Given the description of an element on the screen output the (x, y) to click on. 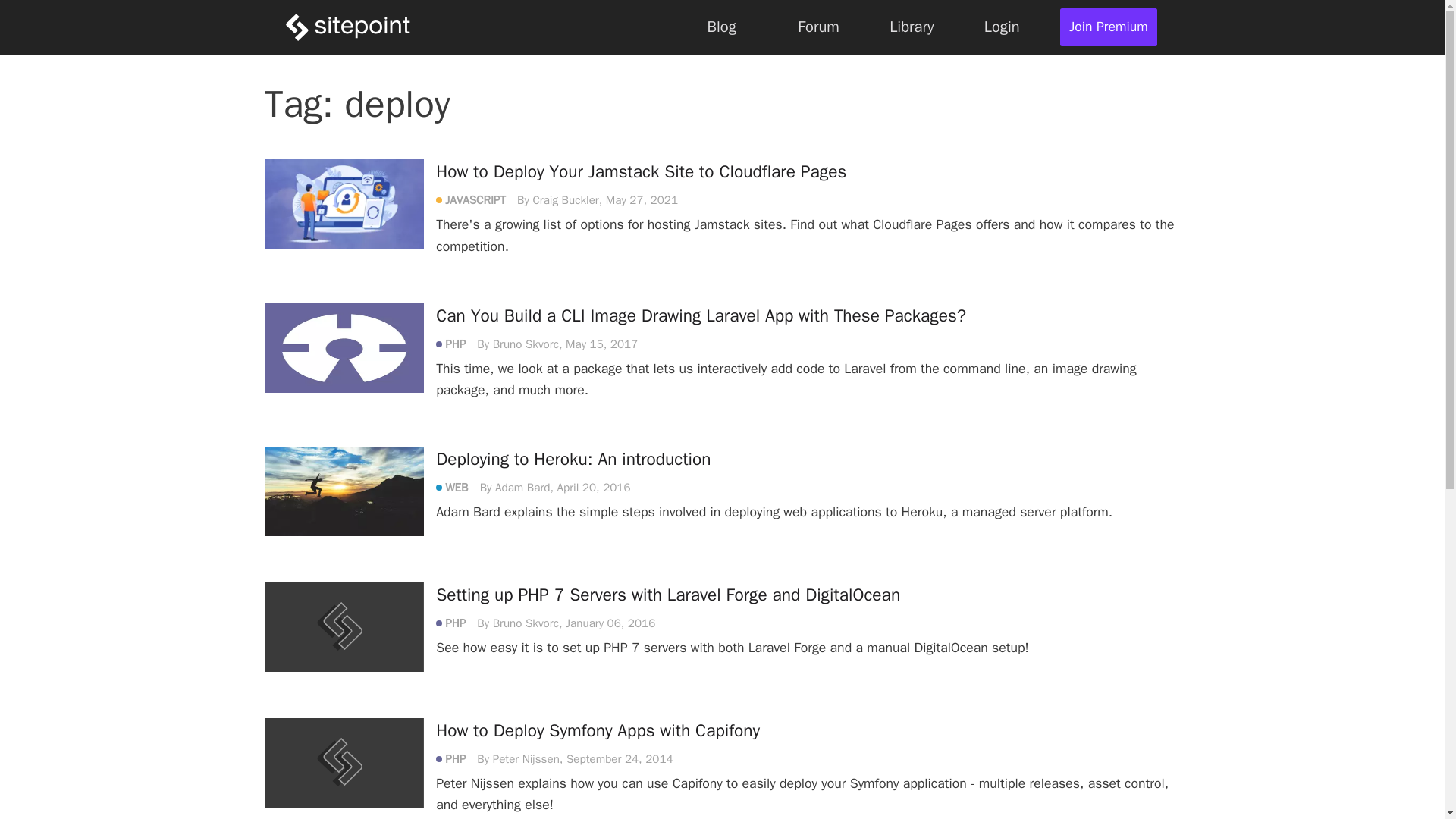
By Adam Bard (515, 487)
How to Deploy Symfony Apps with Capifony (597, 730)
WEB (457, 487)
PHP (456, 343)
How to Deploy Your Jamstack Site to Cloudflare Pages (640, 171)
Blog (721, 26)
PHP (456, 759)
Forum (818, 26)
By Craig Buckler (557, 200)
PHP (456, 623)
